Given the description of an element on the screen output the (x, y) to click on. 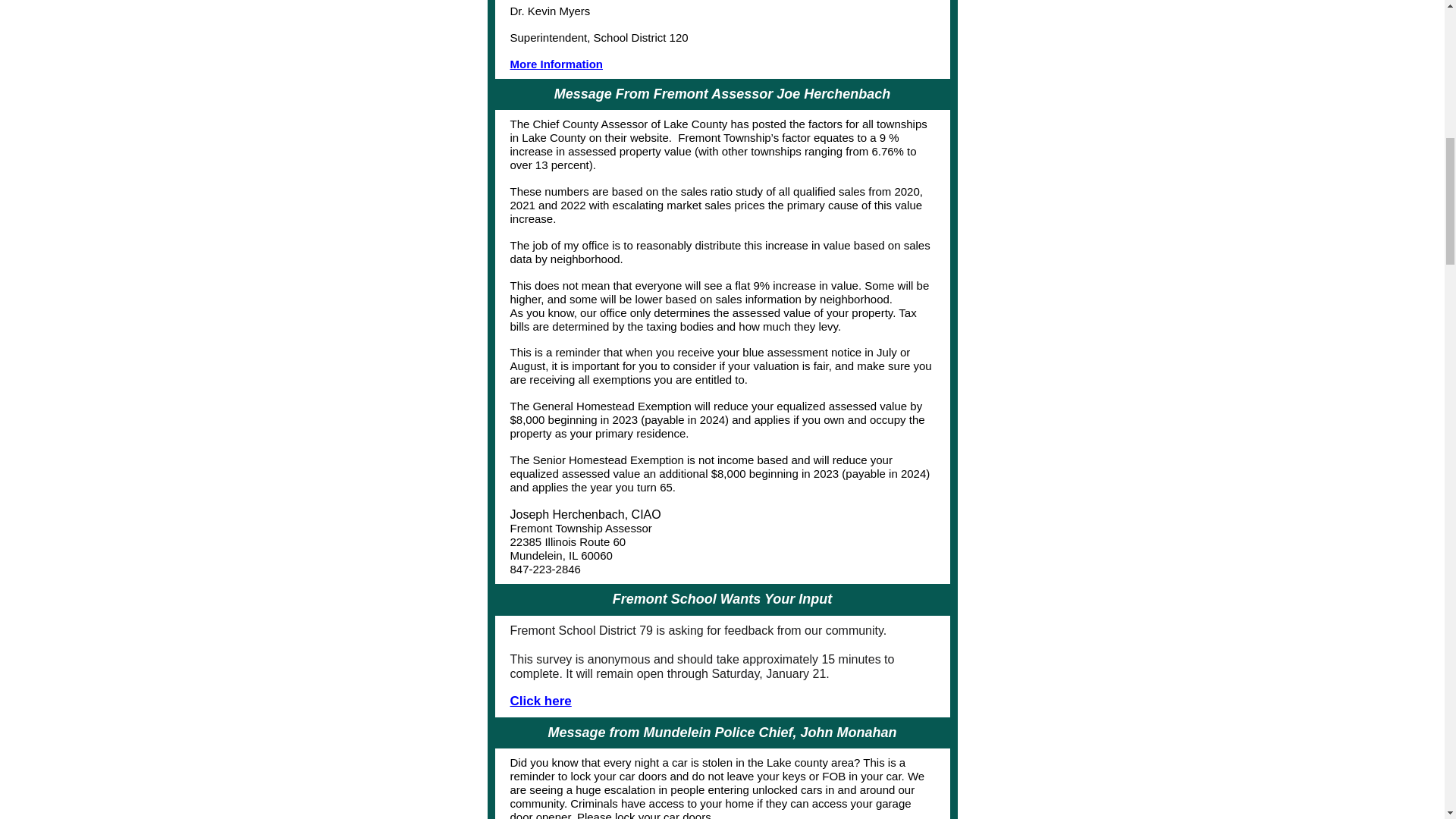
Click here (539, 700)
More Information (555, 63)
